Given the description of an element on the screen output the (x, y) to click on. 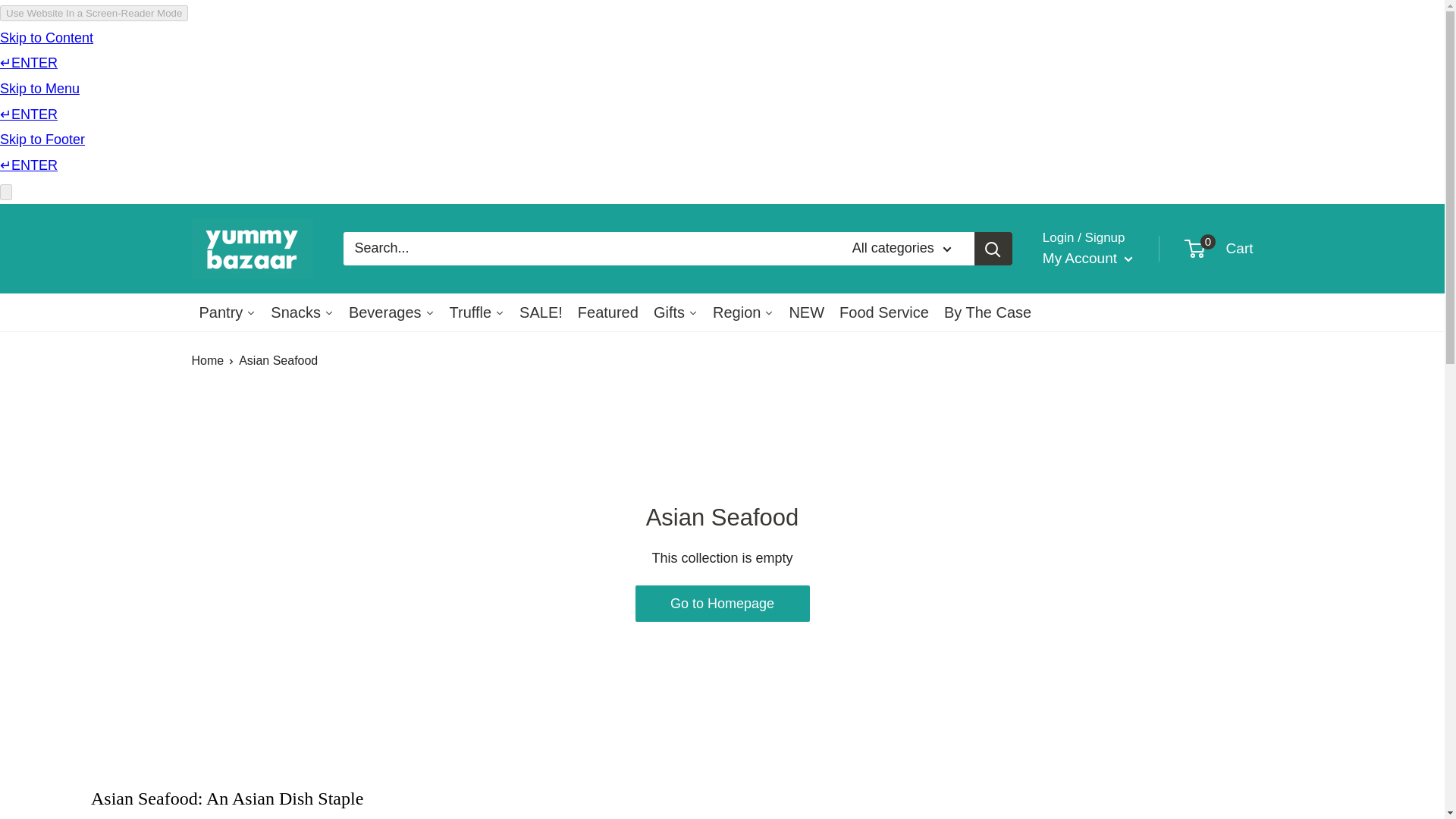
Pantry (226, 312)
Gifts (675, 312)
Featured (608, 312)
Region (742, 312)
Beverages (391, 312)
SALE! (541, 312)
Yummy Bazaar (251, 248)
Gifts (675, 312)
Snacks (301, 312)
Truffle (477, 312)
SALE! (1219, 248)
Featured (541, 312)
Beverages (608, 312)
Truffle (391, 312)
